Given the description of an element on the screen output the (x, y) to click on. 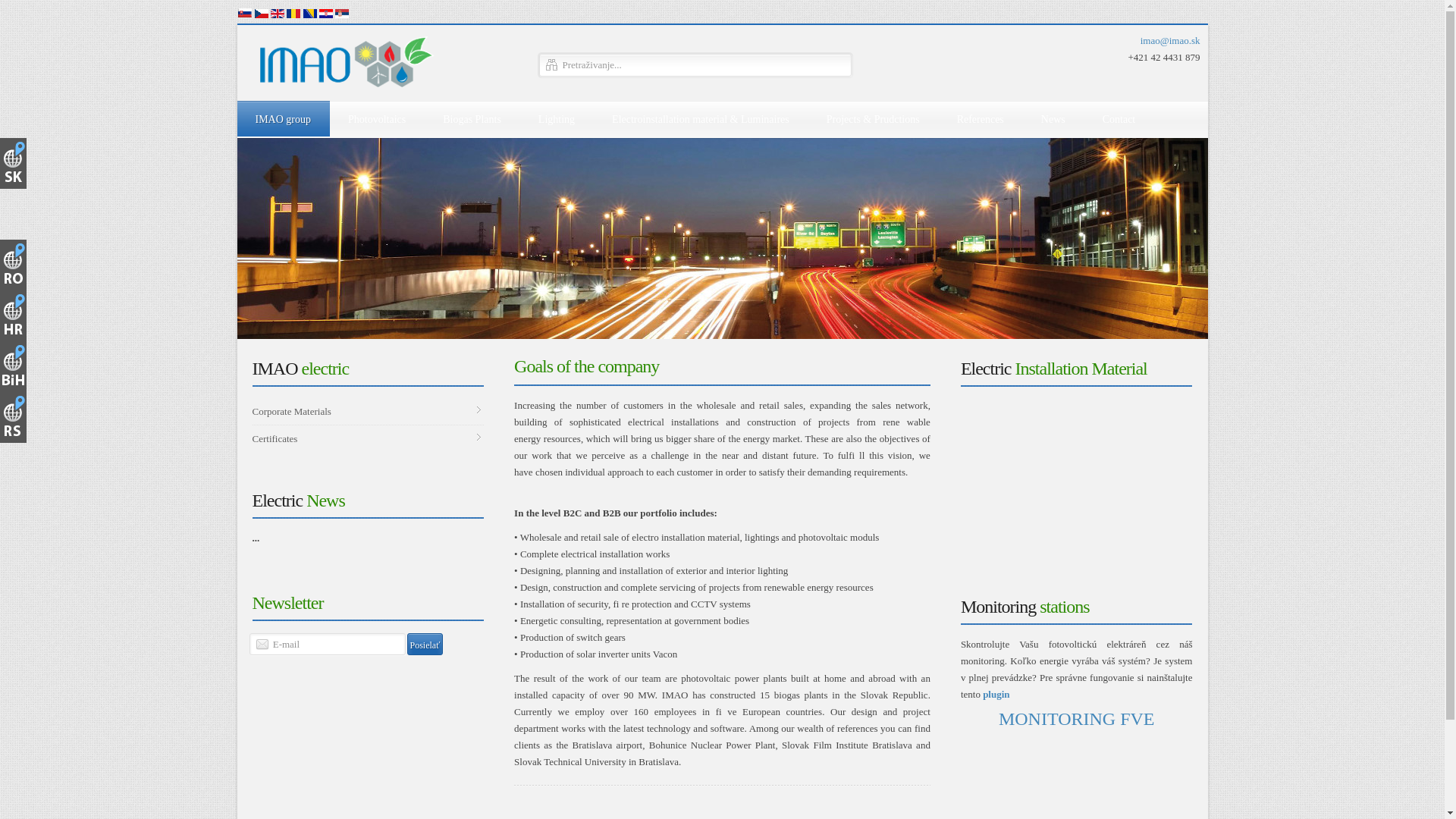
Simple youtube module by JoomShaper.com (1076, 475)
Hrvatska (325, 13)
Photovoltaics (375, 118)
IMAO group (280, 118)
Contact (1117, 118)
Certificates (367, 438)
Goals of the company (586, 365)
Czech Republic (260, 13)
References (979, 118)
E-mail (327, 644)
Srbia (341, 13)
Biogas Plants (470, 118)
Slovakia (243, 12)
English language (276, 13)
News (1051, 118)
